Given the description of an element on the screen output the (x, y) to click on. 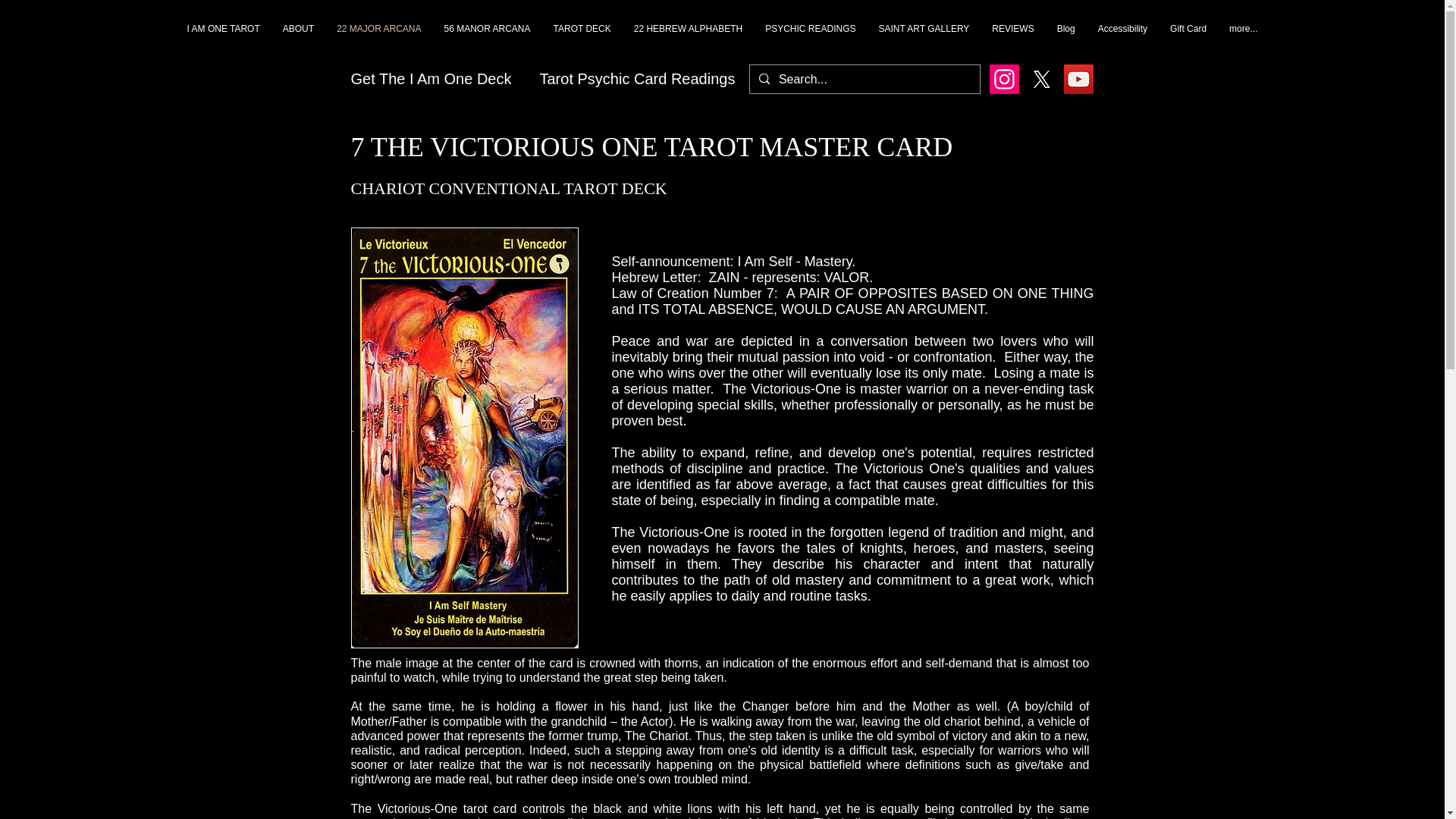
22 HEBREW ALPHABETH (688, 40)
SAINT ART GALLERY (924, 40)
Blog (1065, 40)
56 MANOR ARCANA (486, 40)
PSYCHIC READINGS (810, 40)
I AM ONE TAROT (223, 40)
ABOUT (297, 40)
REVIEWS (1012, 40)
22 MAJOR ARCANA (378, 40)
TAROT DECK (582, 40)
